Given the description of an element on the screen output the (x, y) to click on. 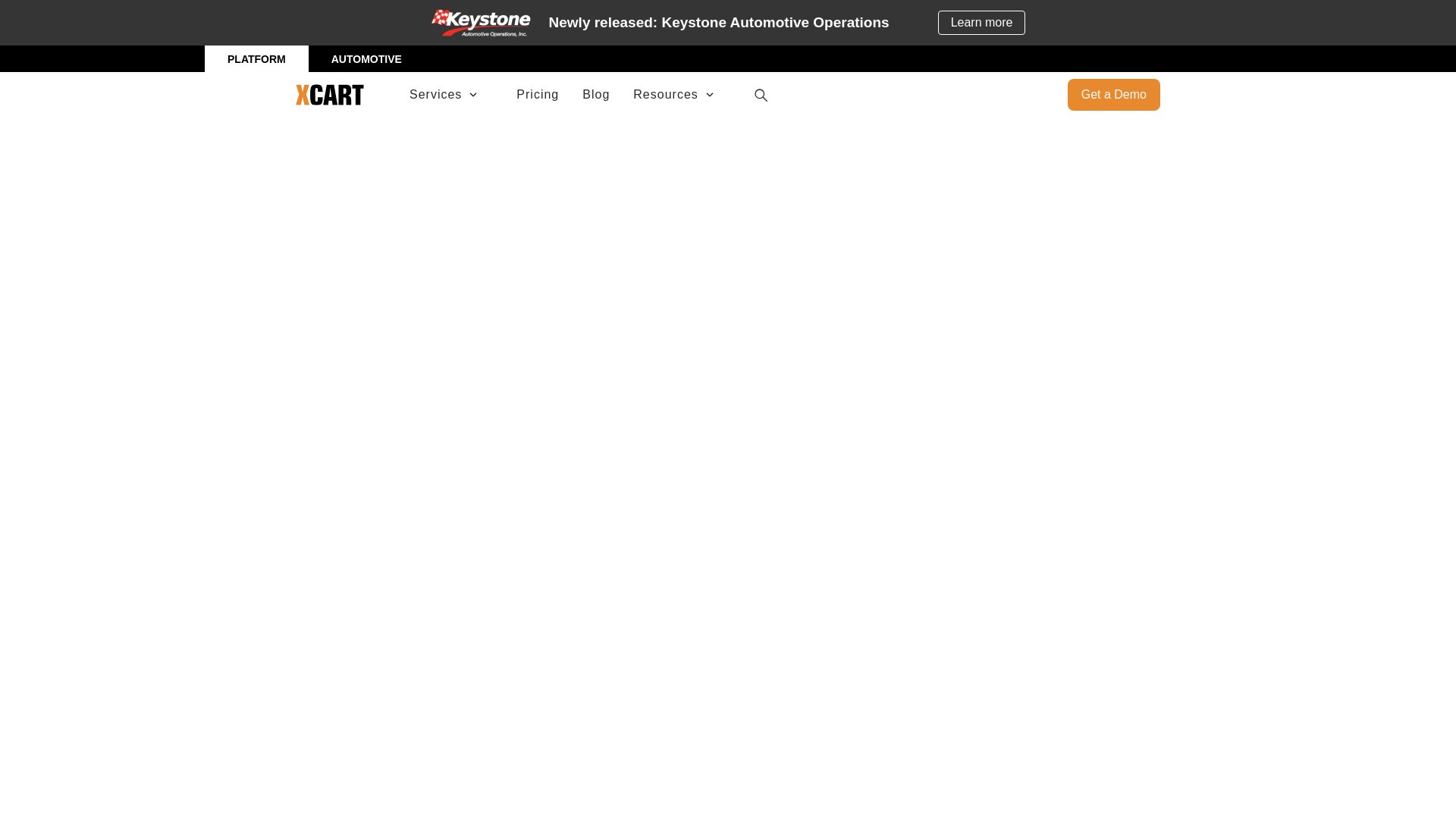
Pricing (537, 93)
Blog (596, 93)
Resources (681, 94)
Get a Demo (1113, 94)
Services (451, 94)
PLATFORM (256, 58)
Search on X-Cart (760, 94)
AUTOMOTIVE (366, 58)
